Given the description of an element on the screen output the (x, y) to click on. 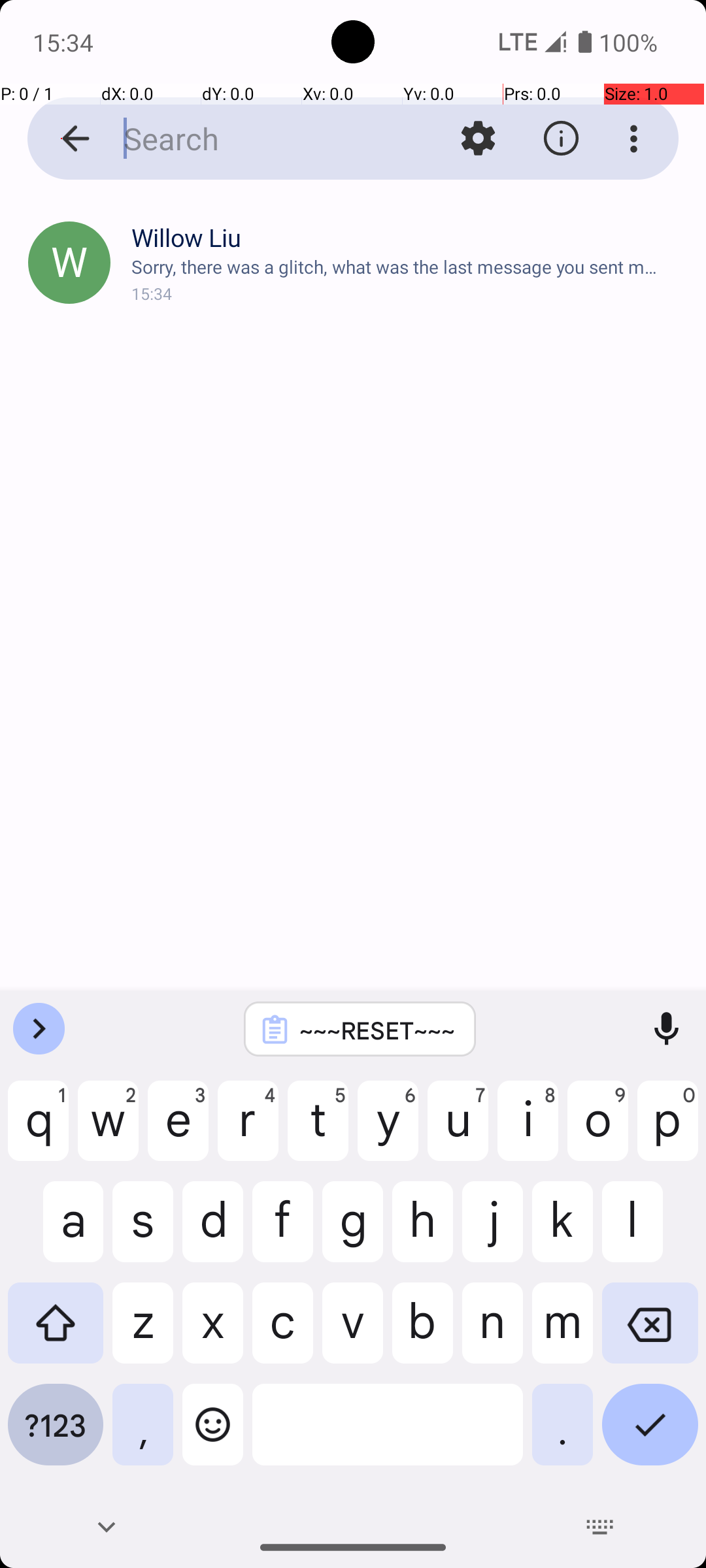
Willow Liu Element type: android.widget.TextView (408, 237)
